Given the description of an element on the screen output the (x, y) to click on. 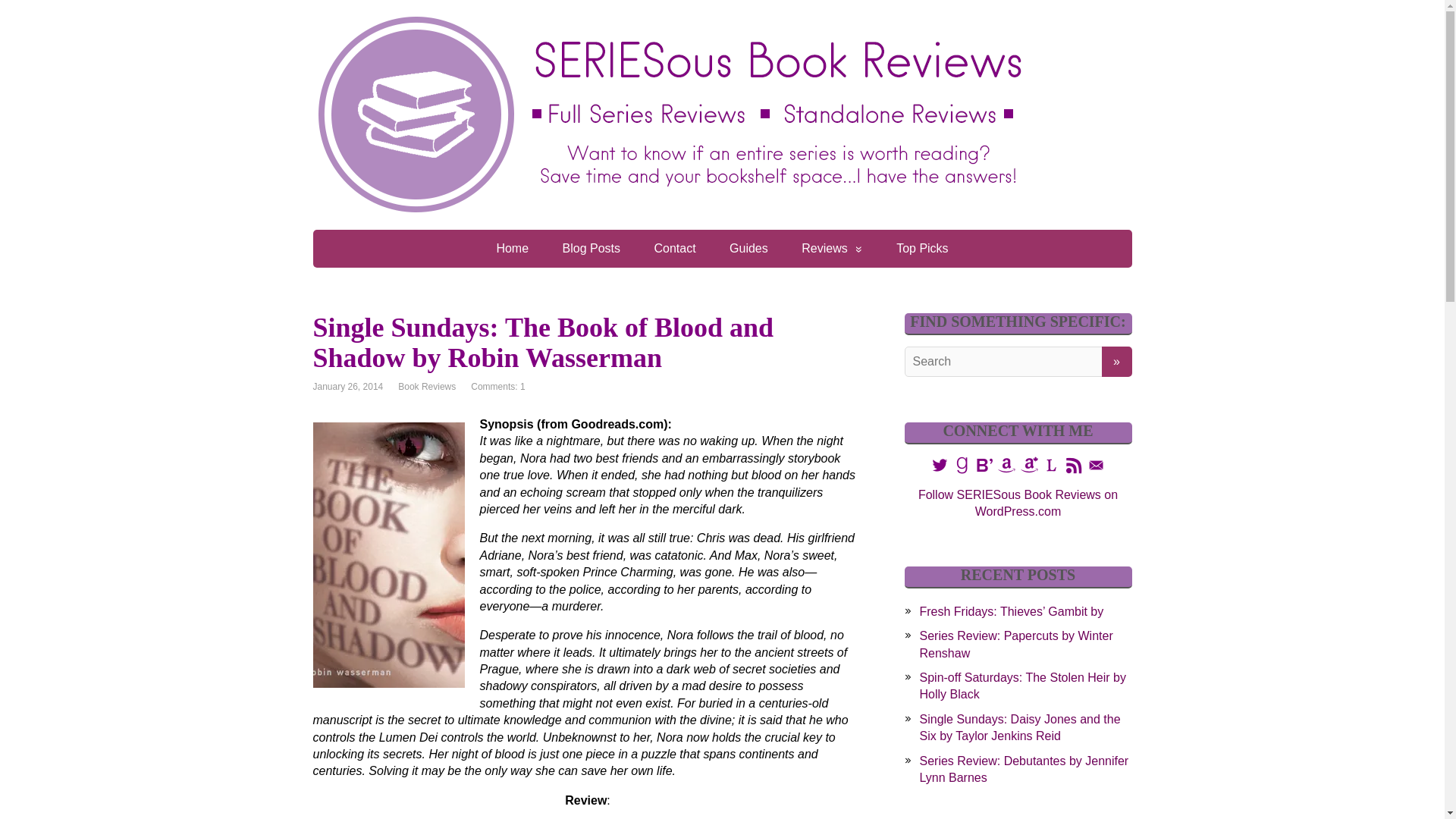
Amazon.com Reviews (1006, 465)
Book Reviews (426, 386)
Goodreads (961, 463)
RSS (1073, 463)
Reviews (831, 248)
Blog Posts (590, 248)
Guides (748, 248)
Contact (674, 248)
Bloglovin (984, 463)
Follow SERIESous Book Reviews on WordPress.com (1018, 502)
